Given the description of an element on the screen output the (x, y) to click on. 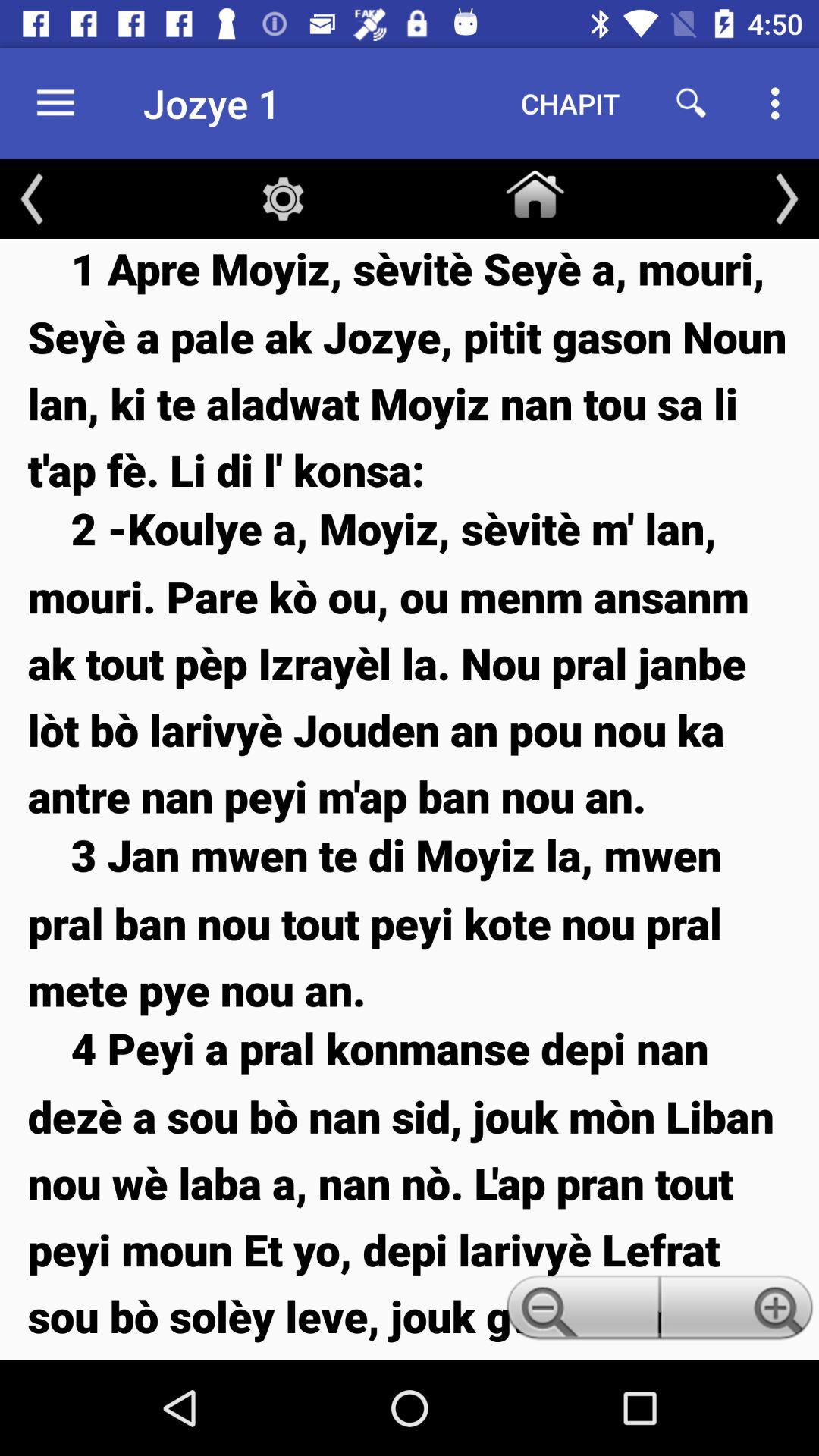
select the icon to the right of the jozye 1 item (570, 103)
